Given the description of an element on the screen output the (x, y) to click on. 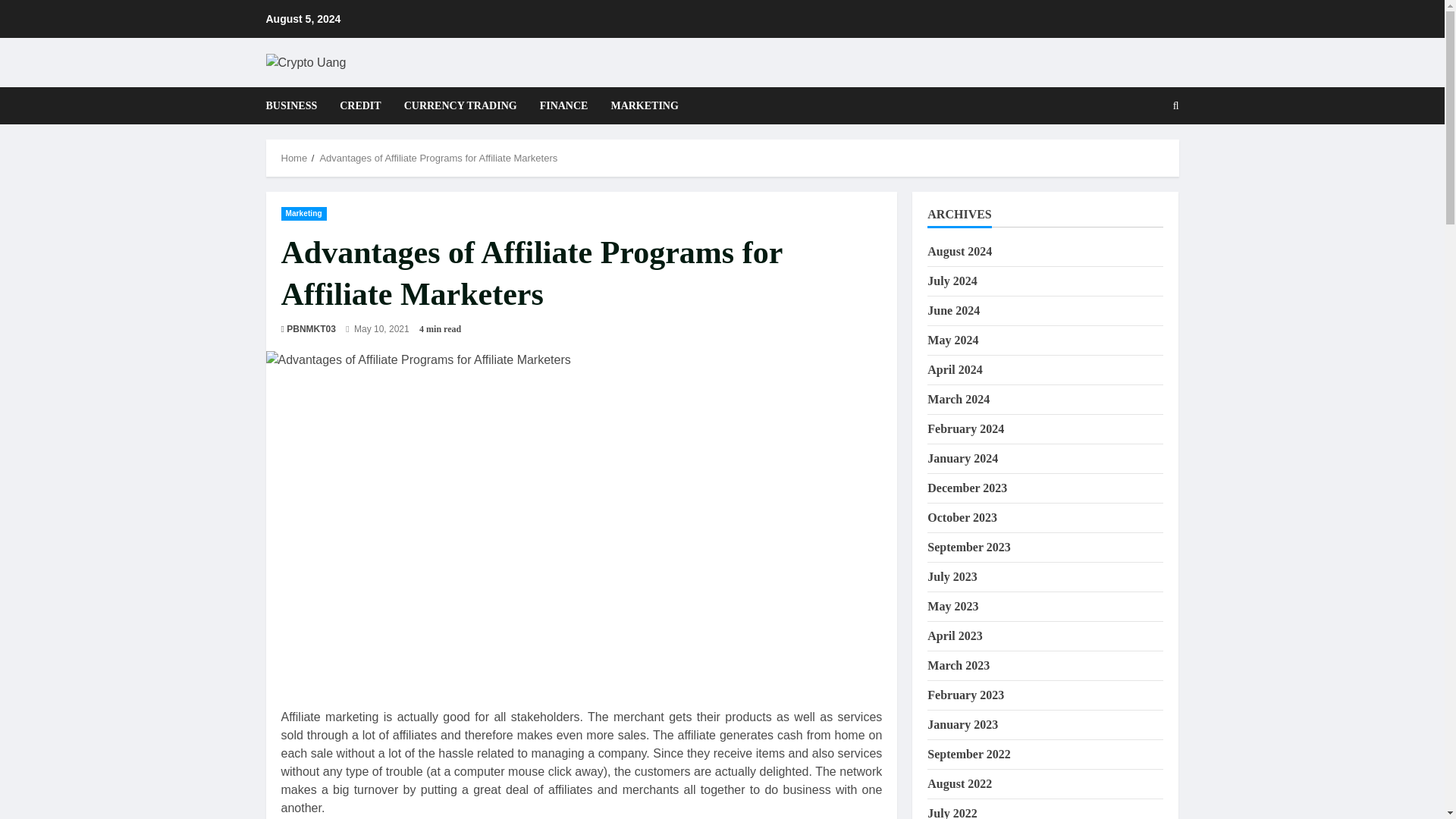
June 2024 (953, 309)
FINANCE (563, 105)
Search (1139, 157)
CURRENCY TRADING (460, 105)
April 2024 (954, 369)
July 2024 (951, 280)
January 2024 (962, 458)
Advantages of Affiliate Programs for Affiliate Marketers (437, 157)
August 2024 (959, 250)
December 2023 (967, 487)
May 2024 (952, 339)
Home (294, 157)
July 2023 (951, 576)
May 2023 (952, 605)
October 2023 (962, 517)
